Given the description of an element on the screen output the (x, y) to click on. 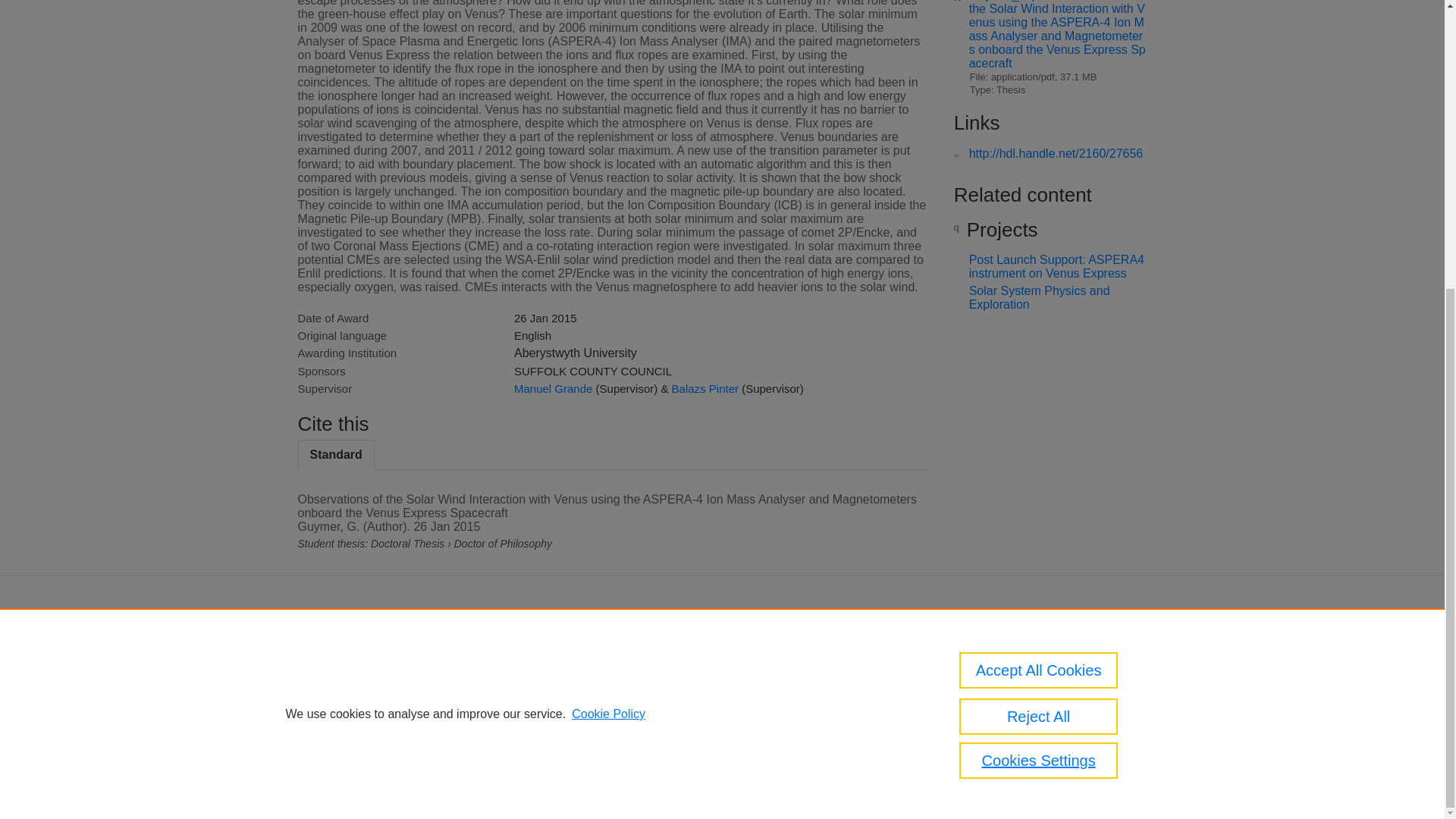
Manuel Grande (552, 388)
Contact us (1125, 657)
Report vulnerability (1016, 715)
Balazs Pinter (704, 388)
Log in to Pure (584, 767)
Elsevier B.V. (764, 672)
Post Launch Support: ASPERA4 instrument on Venus Express (1056, 266)
Solar System Physics and Exploration (1039, 297)
Aberystwyth Research Portal data protection policy (1022, 663)
Pure (620, 651)
Cookies Settings (591, 747)
About web accessibility (1024, 695)
Scopus (652, 651)
use of cookies (708, 726)
